Given the description of an element on the screen output the (x, y) to click on. 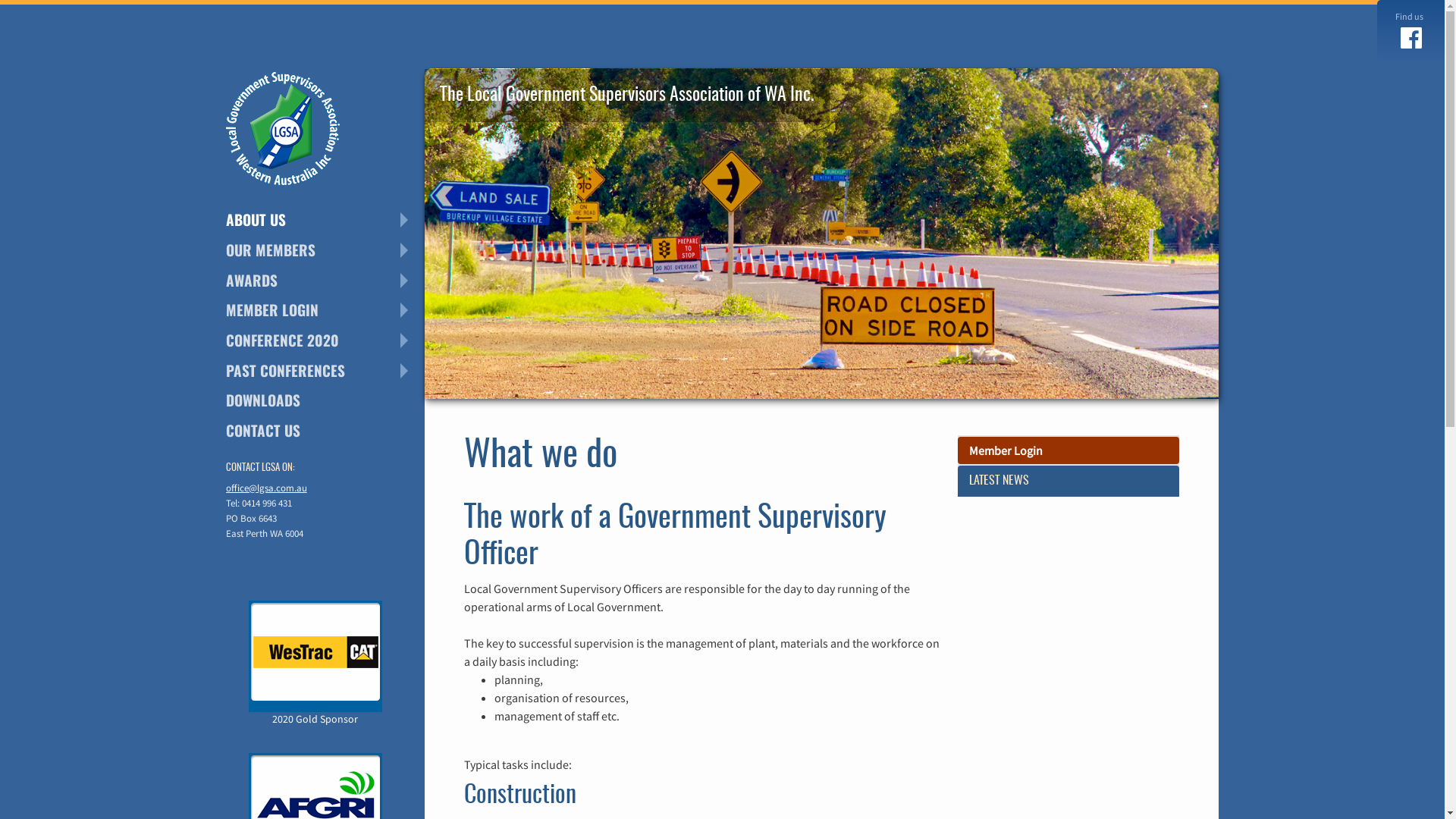
AWARDS Element type: text (324, 280)
PAST CONFERENCES Element type: text (324, 370)
CONFERENCE 2020 Element type: text (324, 340)
MEMBER LOGIN Element type: text (324, 310)
OUR MEMBERS Element type: text (324, 250)
DOWNLOADS Element type: text (324, 400)
office@lgsa.com.au Element type: text (266, 487)
CONTACT US Element type: text (324, 430)
ABOUT US Element type: text (324, 219)
Member Login Element type: text (1068, 450)
